Given the description of an element on the screen output the (x, y) to click on. 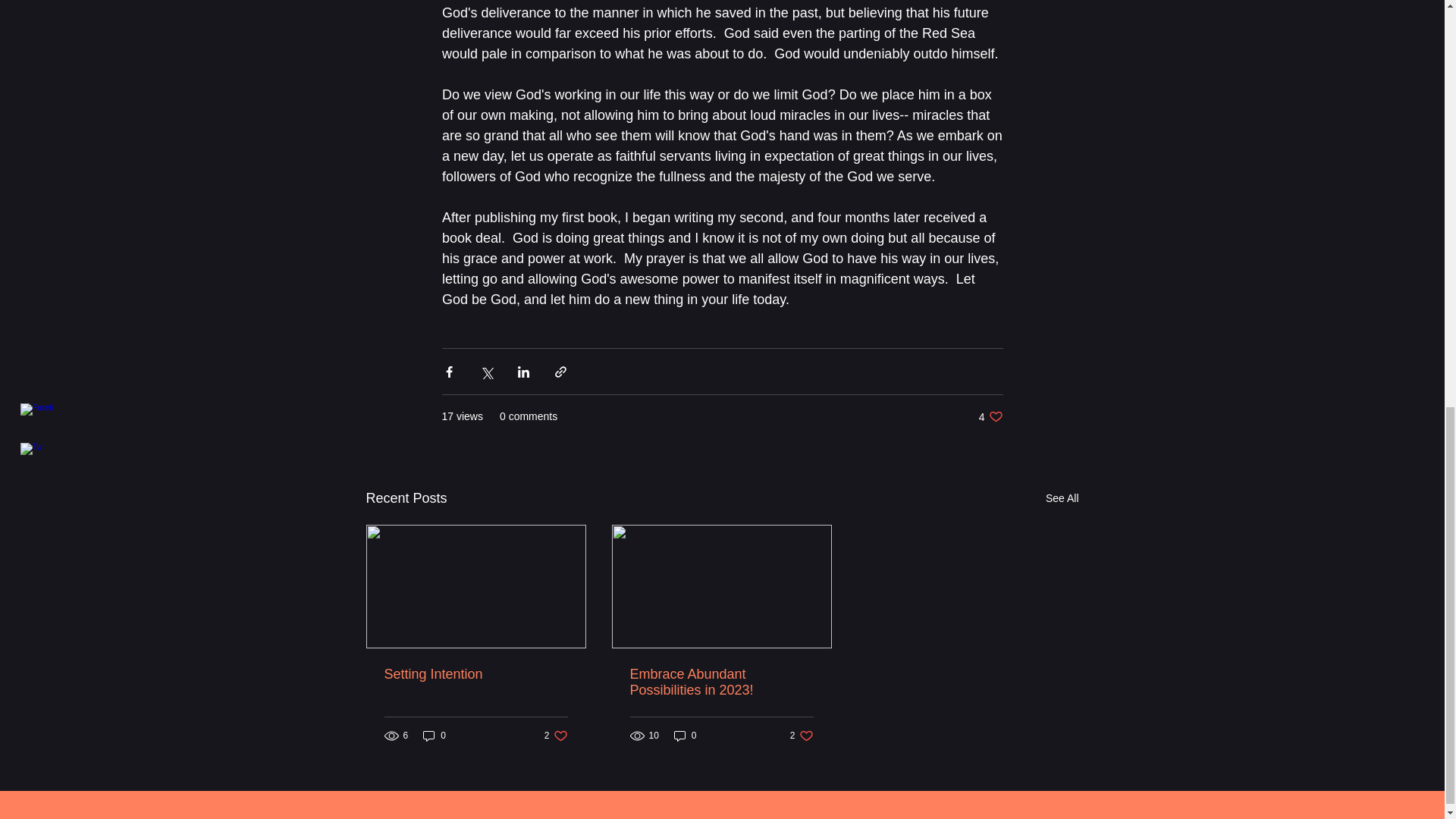
Setting Intention (475, 674)
See All (1061, 498)
0 (685, 735)
0 (990, 416)
Embrace Abundant Possibilities in 2023! (801, 735)
